Given the description of an element on the screen output the (x, y) to click on. 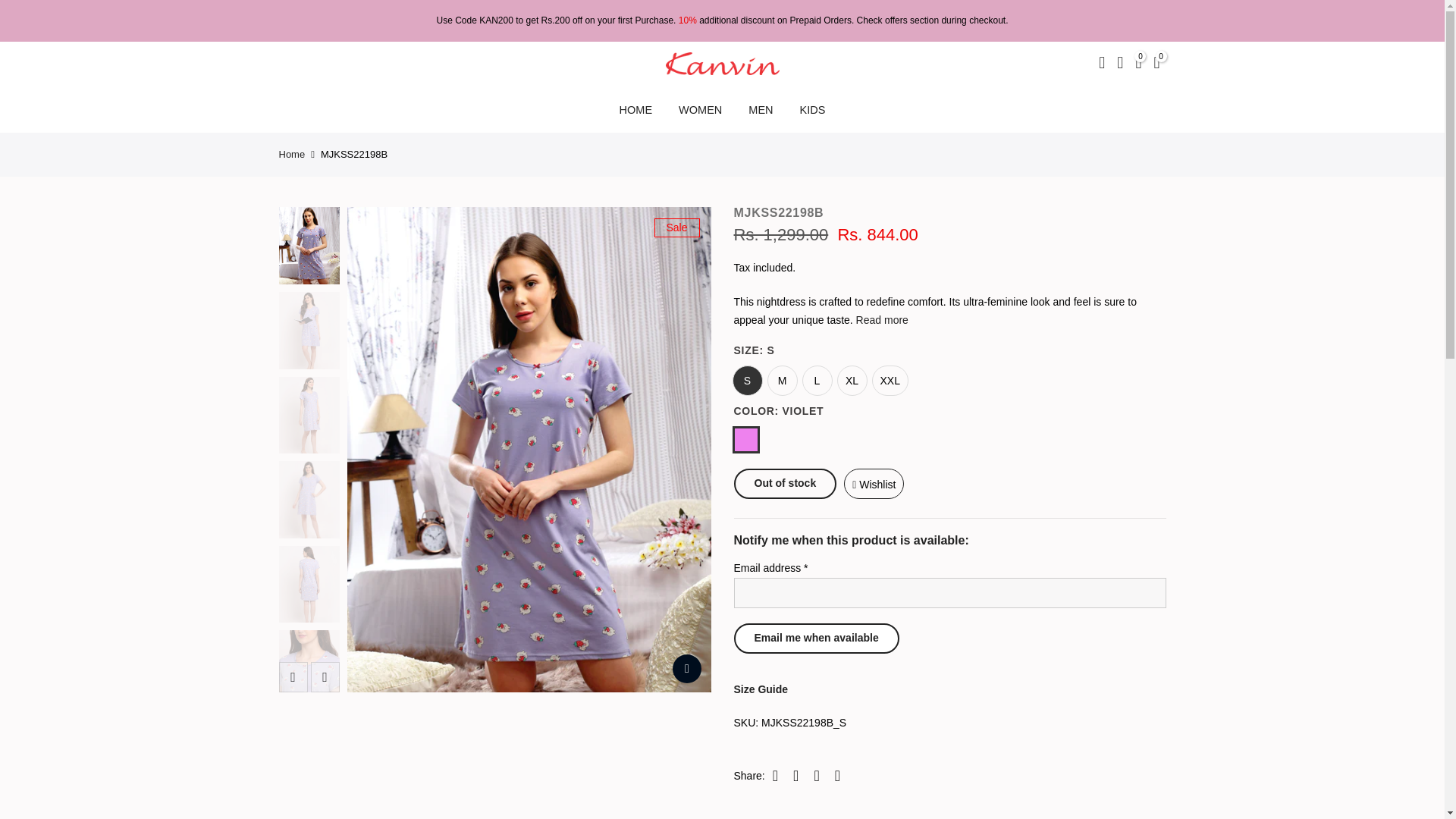
Email me when available (816, 638)
KIDS (812, 109)
HOME (635, 109)
MEN (760, 109)
0 (1138, 64)
WOMEN (700, 109)
